Given the description of an element on the screen output the (x, y) to click on. 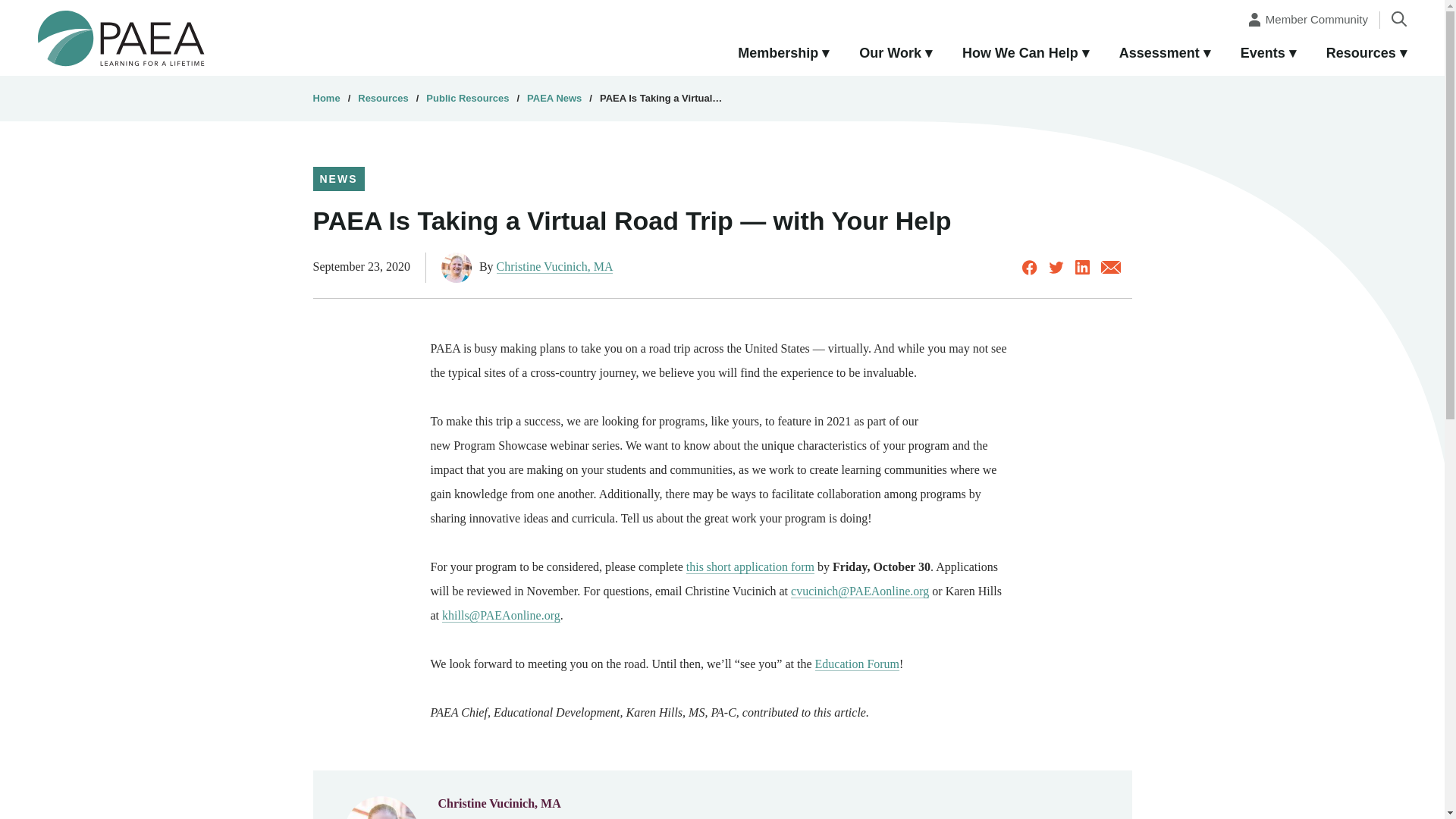
homepage (121, 37)
Membership (783, 53)
Our Work (895, 53)
